Given the description of an element on the screen output the (x, y) to click on. 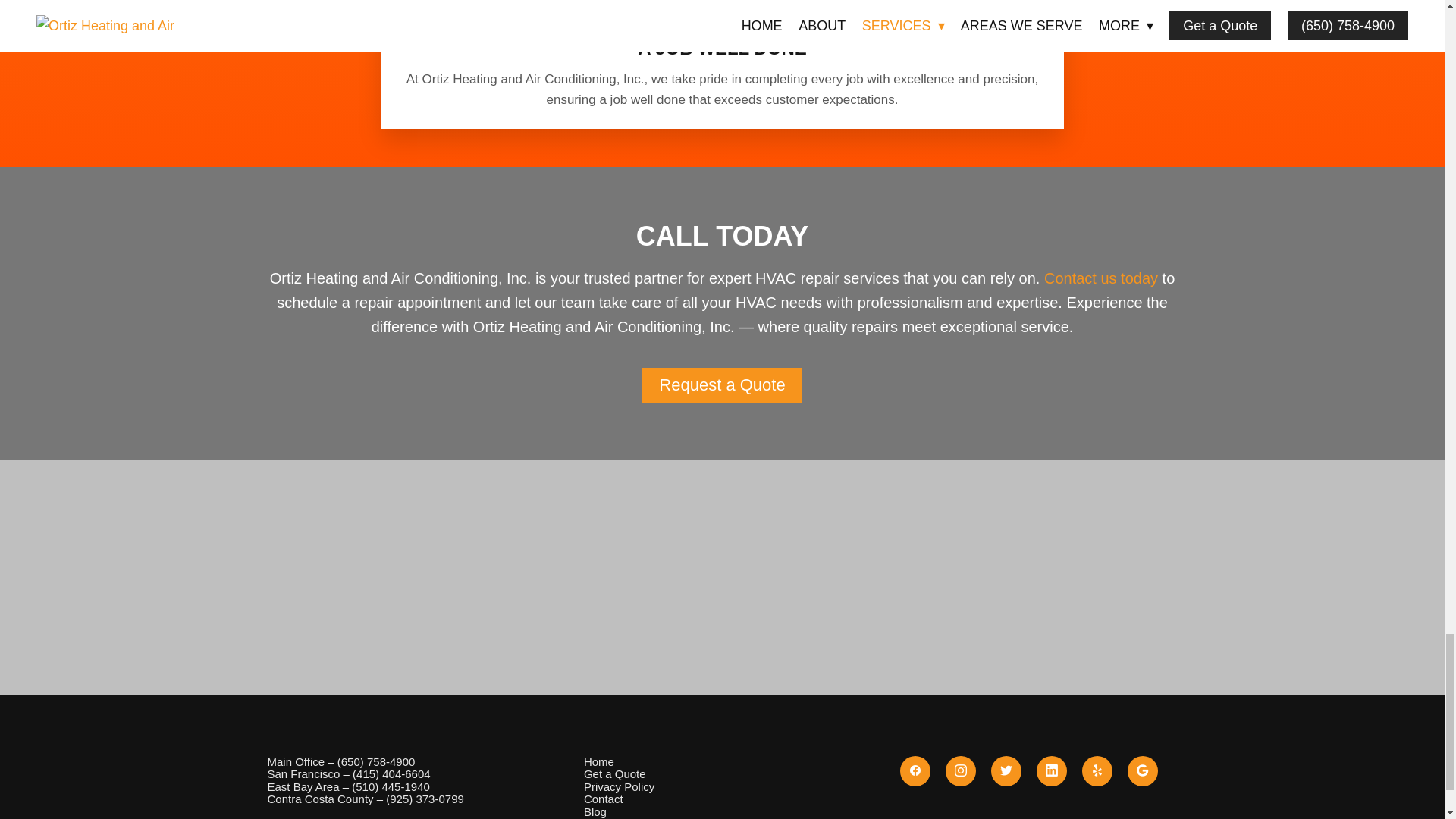
Request a Quote (722, 384)
Home (598, 761)
Privacy Policy (618, 786)
A job well done icon (722, 12)
Contact us today (1100, 278)
Blog (595, 811)
Contact (603, 798)
Get a Quote (614, 773)
